Given the description of an element on the screen output the (x, y) to click on. 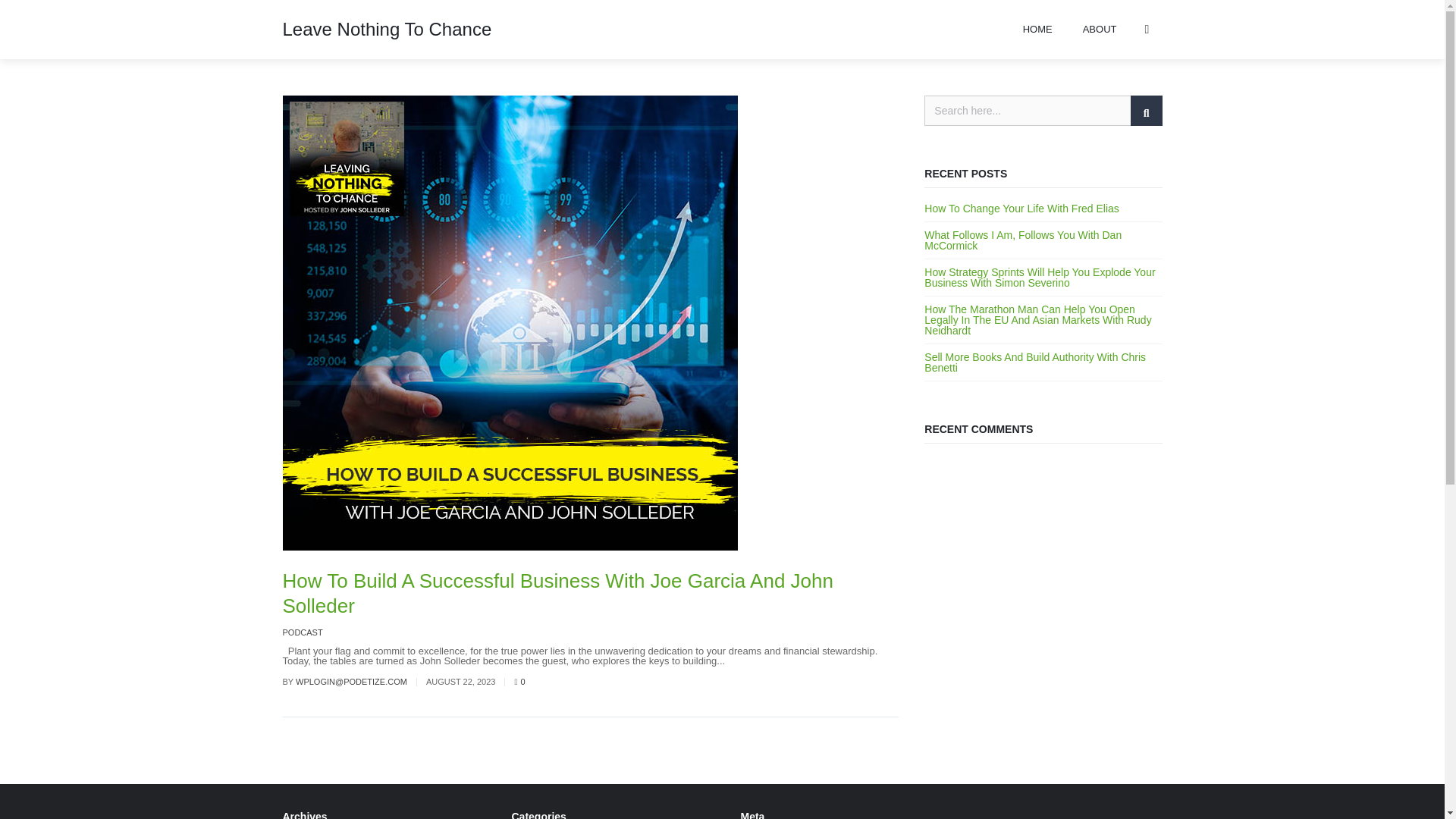
Sell More Books And Build Authority With Chris Benetti (1034, 362)
Search here... (1042, 110)
PODCAST (301, 632)
Read More (752, 660)
0 (518, 681)
View all posts in Podcast (301, 632)
HOME (1037, 29)
ABOUT (1099, 29)
